Given the description of an element on the screen output the (x, y) to click on. 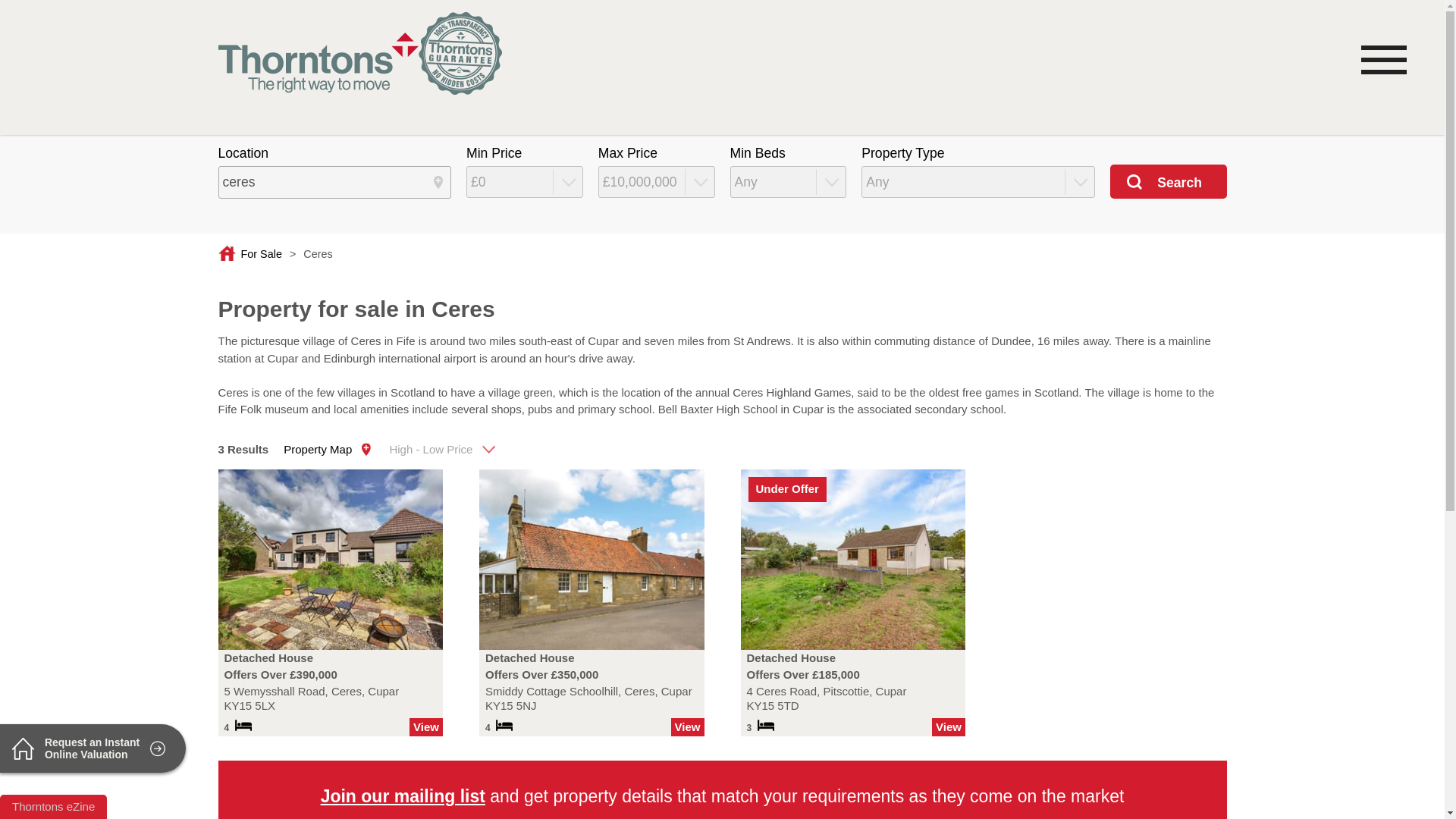
ceres (334, 181)
Property Map (319, 449)
Skip to Main Content (725, 12)
Search (1168, 180)
For Sale (250, 253)
